Given the description of an element on the screen output the (x, y) to click on. 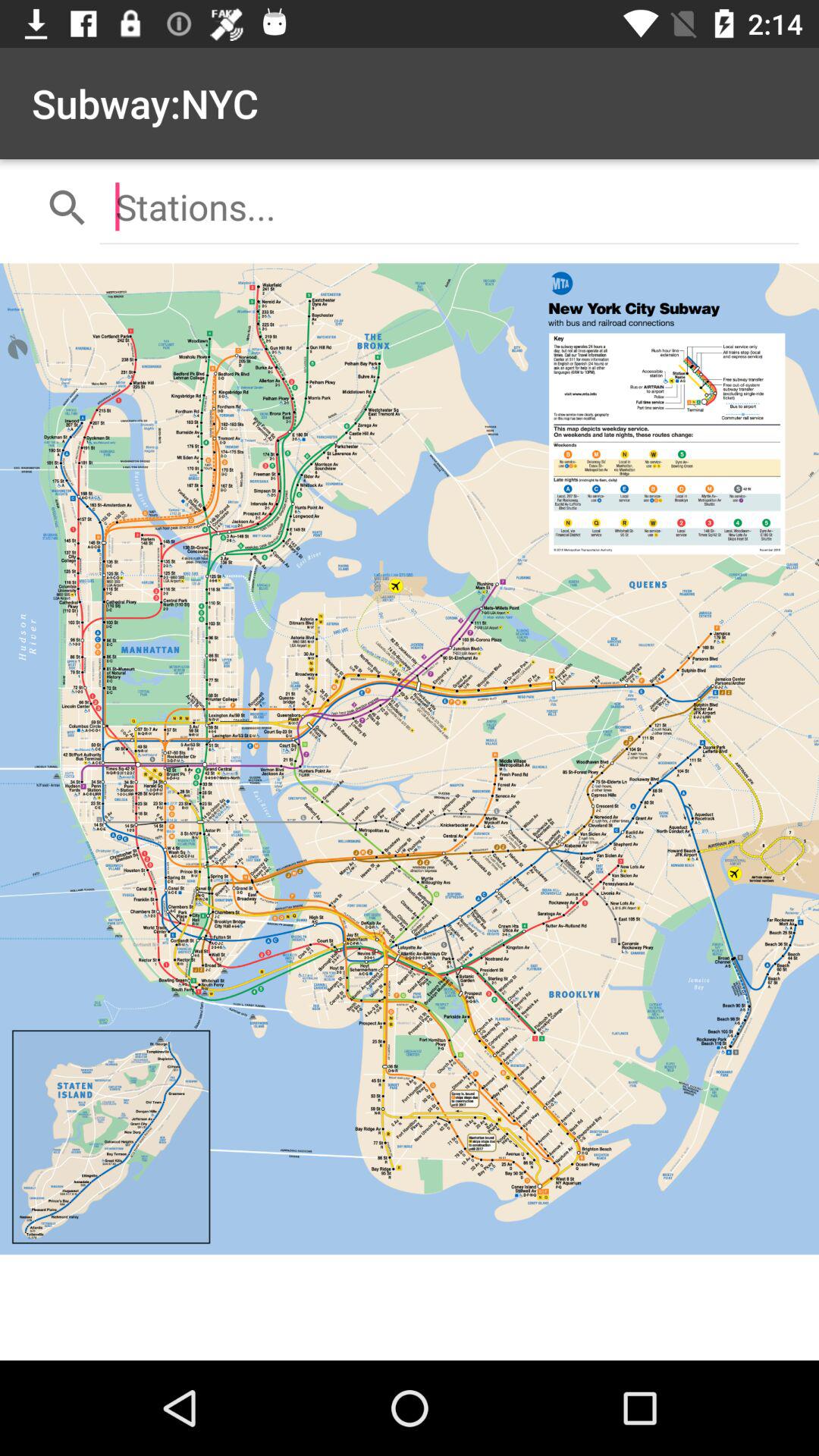
press the item below subway:nyc icon (449, 206)
